Given the description of an element on the screen output the (x, y) to click on. 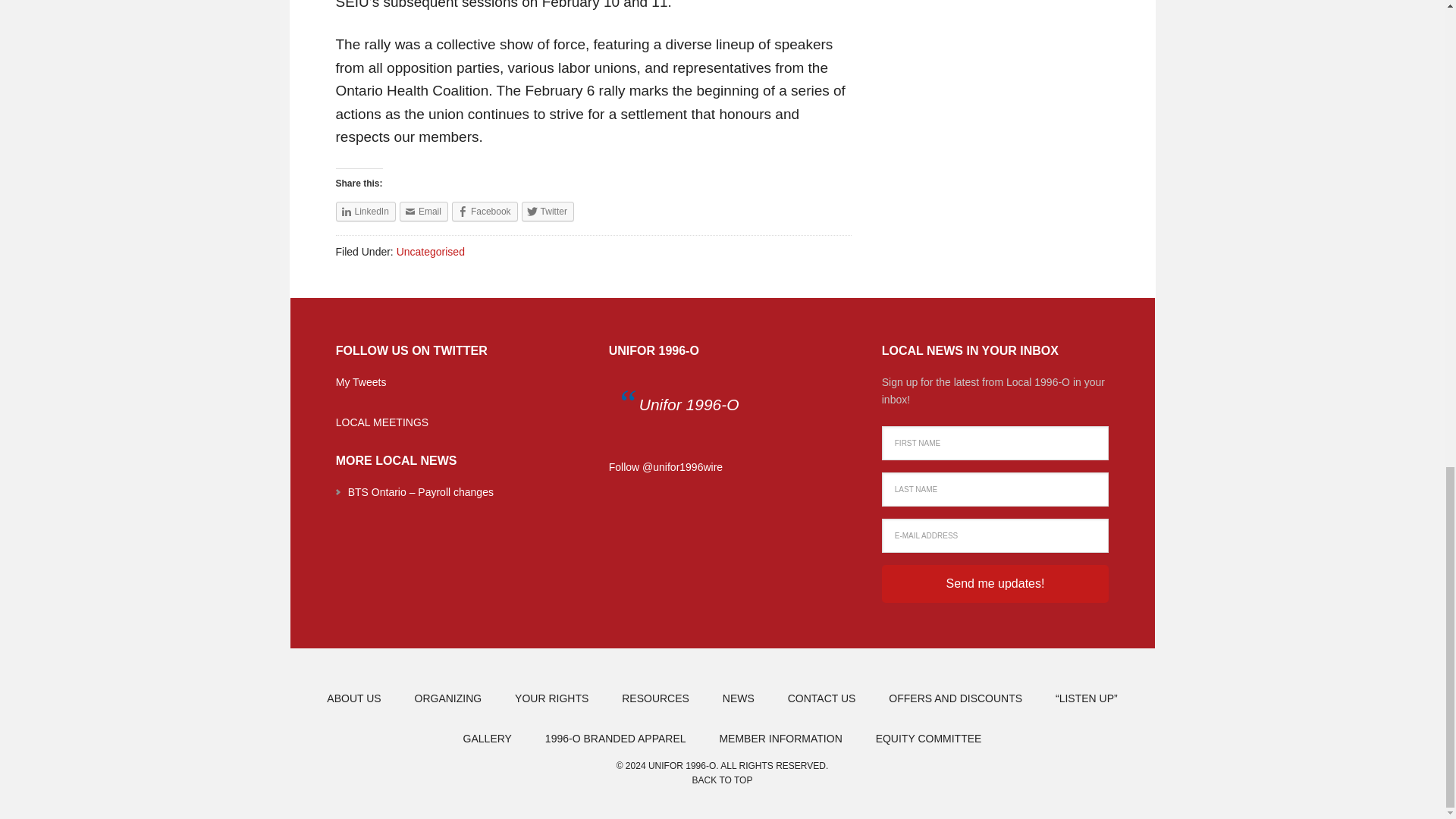
LOCAL MEETINGS (382, 422)
RESOURCES (655, 698)
ORGANIZING (447, 698)
LinkedIn (364, 211)
Click to share on Facebook (484, 211)
UNIFOR 1996-O (653, 350)
My Tweets (361, 381)
Uncategorised (430, 251)
Email (423, 211)
Twitter (547, 211)
